Given the description of an element on the screen output the (x, y) to click on. 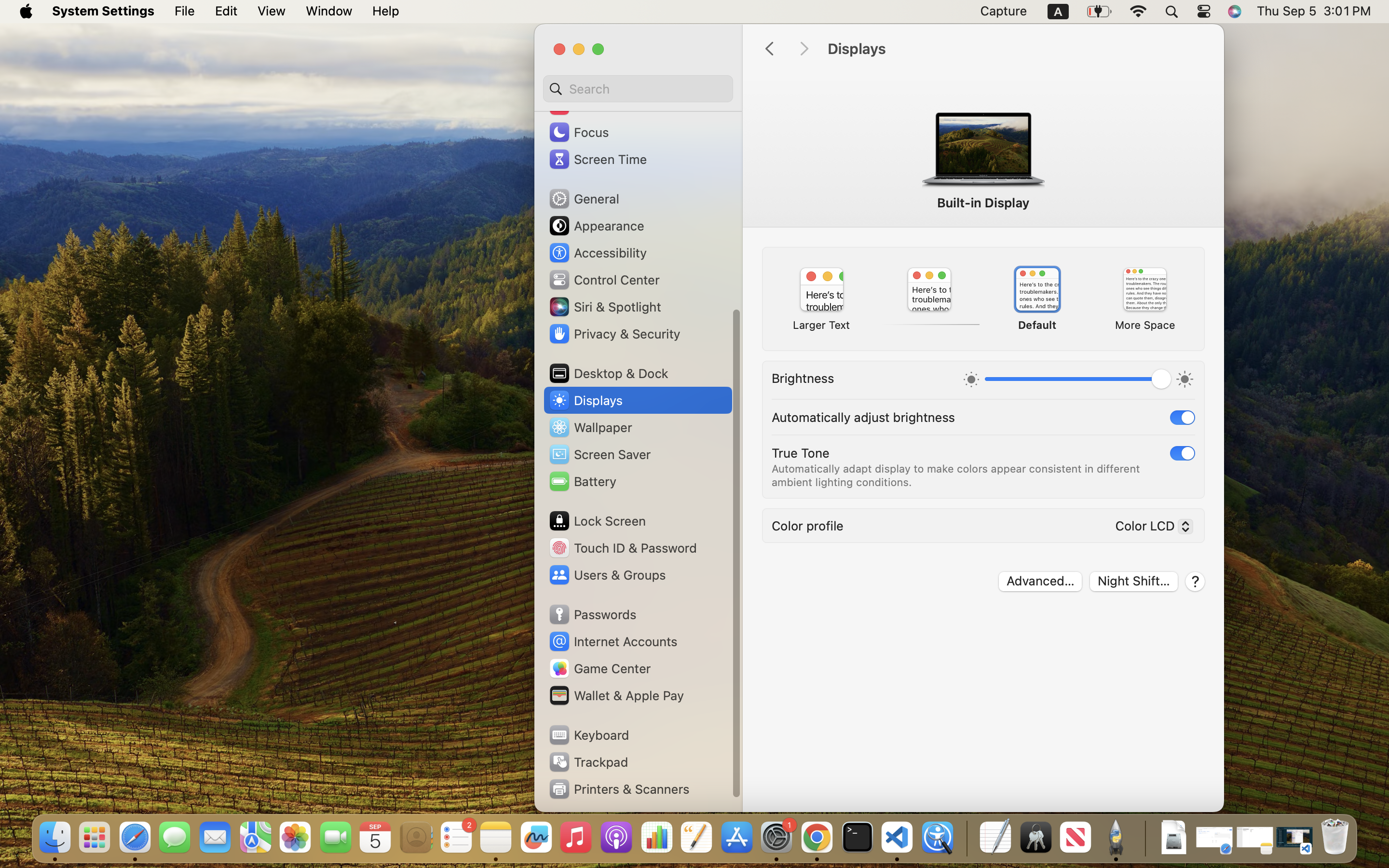
Color LCD Element type: AXPopUpButton (1149, 527)
Touch ID & Password Element type: AXStaticText (622, 547)
Control Center Element type: AXStaticText (603, 279)
Wallet & Apple Pay Element type: AXStaticText (615, 694)
Lock Screen Element type: AXStaticText (596, 520)
